Given the description of an element on the screen output the (x, y) to click on. 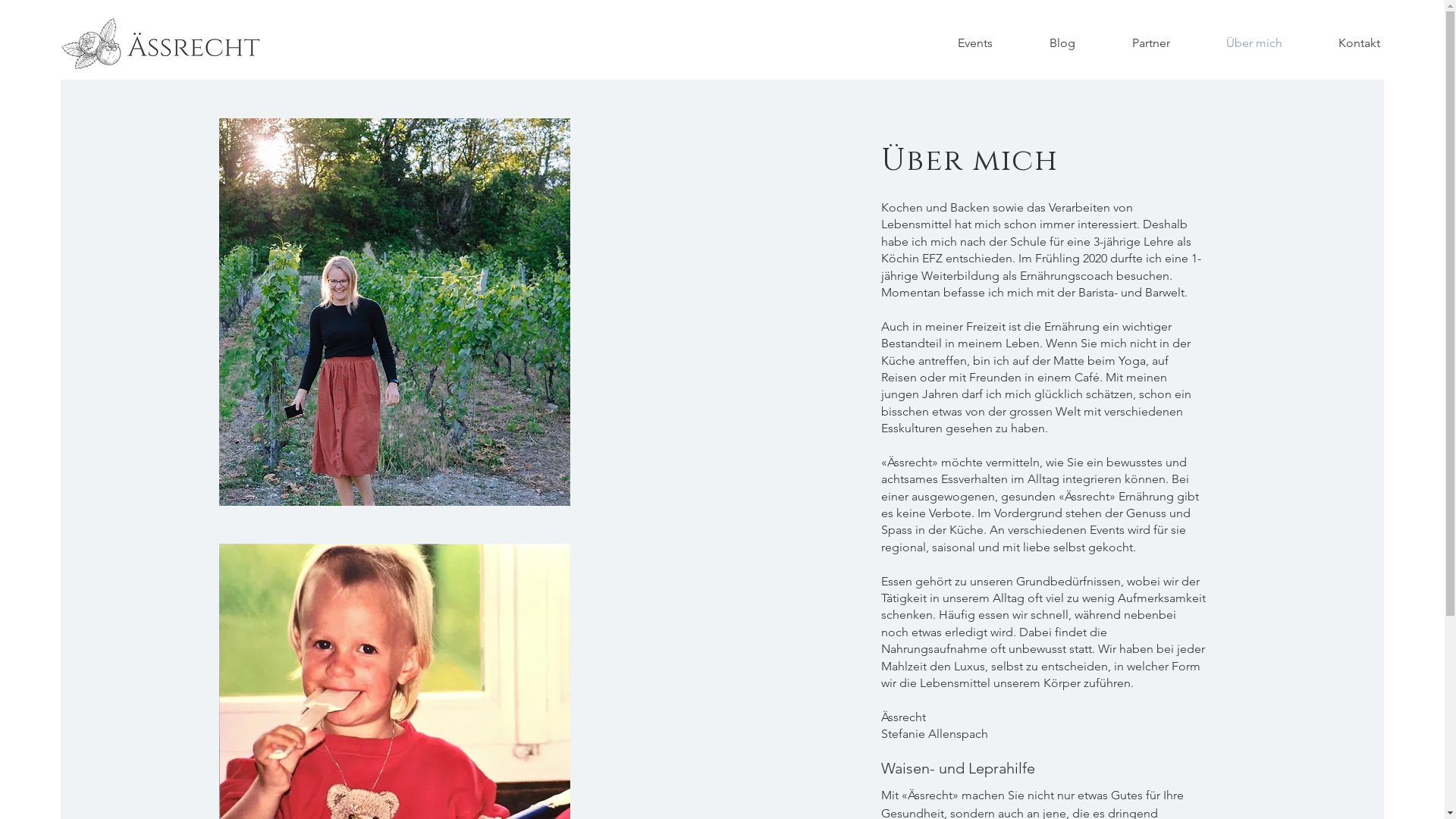
Kontakt Element type: text (1359, 42)
Blog Element type: text (1061, 42)
Partner Element type: text (1150, 42)
Events Element type: text (974, 42)
